Given the description of an element on the screen output the (x, y) to click on. 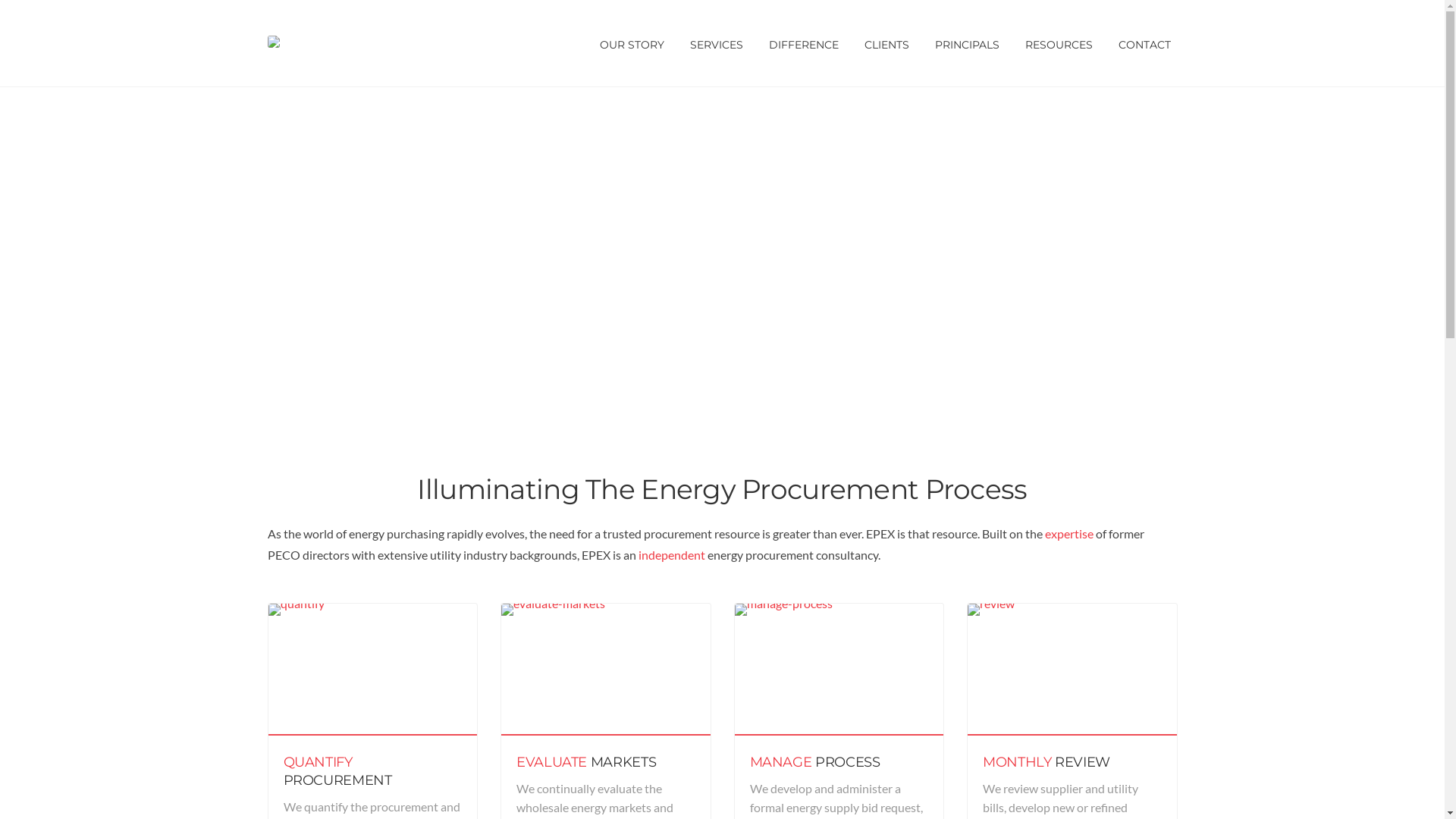
expertise Element type: text (1068, 533)
PRINCIPALS Element type: text (967, 43)
CONTACT Element type: text (1144, 43)
DIFFERENCE Element type: text (802, 43)
CLIENTS Element type: text (885, 43)
independent Element type: text (671, 554)
RESOURCES Element type: text (1057, 43)
SERVICES Element type: text (715, 43)
OUR STORY Element type: text (631, 43)
Exton Web Design Element type: text (563, 793)
